Given the description of an element on the screen output the (x, y) to click on. 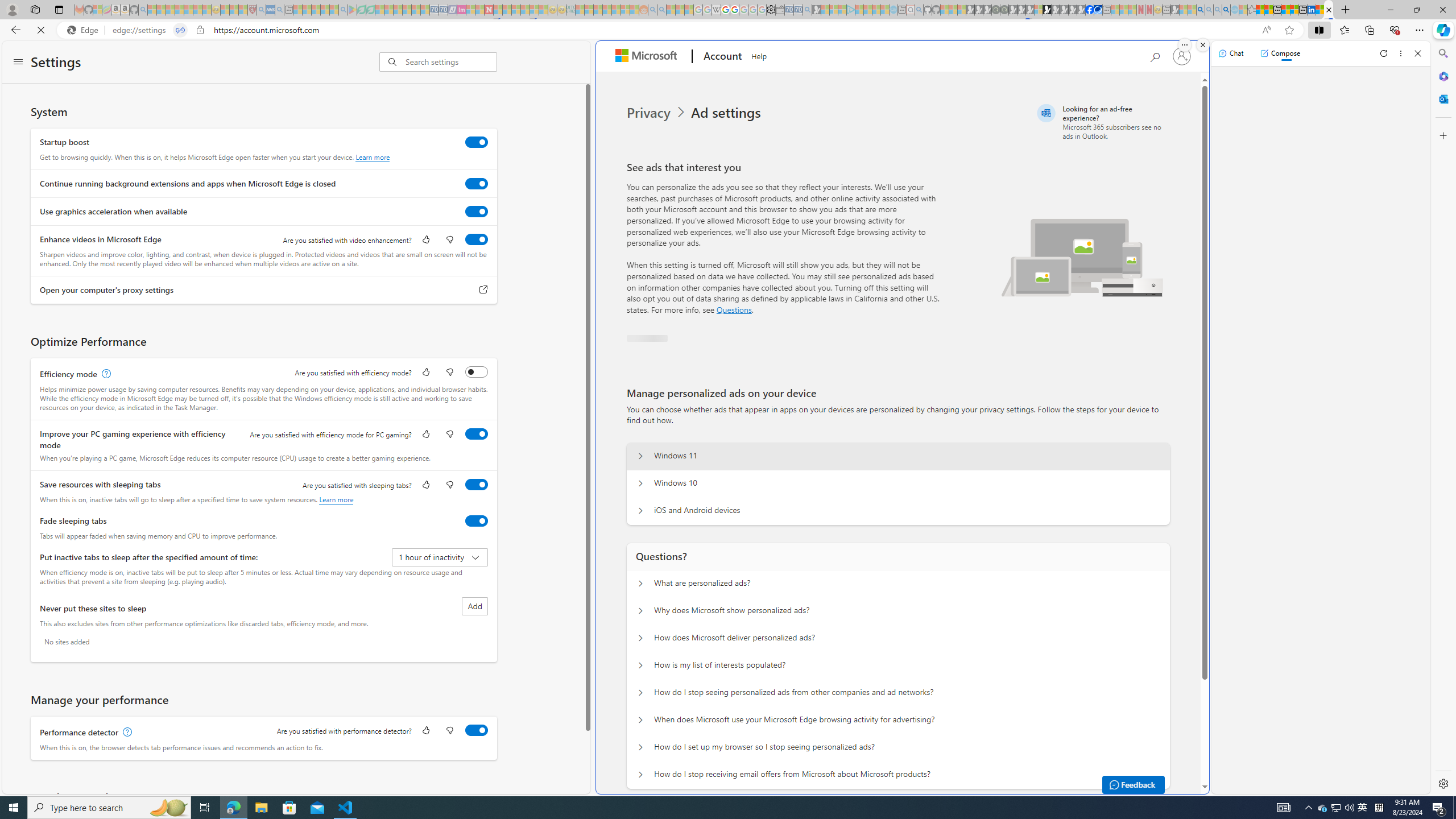
AQI & Health | AirNow.gov (1098, 9)
Fade sleeping tabs (476, 520)
Terms of Use Agreement - Sleeping (361, 9)
github - Search - Sleeping (919, 9)
Help (758, 54)
Enhance videos in Microsoft Edge (476, 238)
Sign in to your account - Sleeping (1038, 9)
MSNBC - MSN - Sleeping (579, 9)
